Given the description of an element on the screen output the (x, y) to click on. 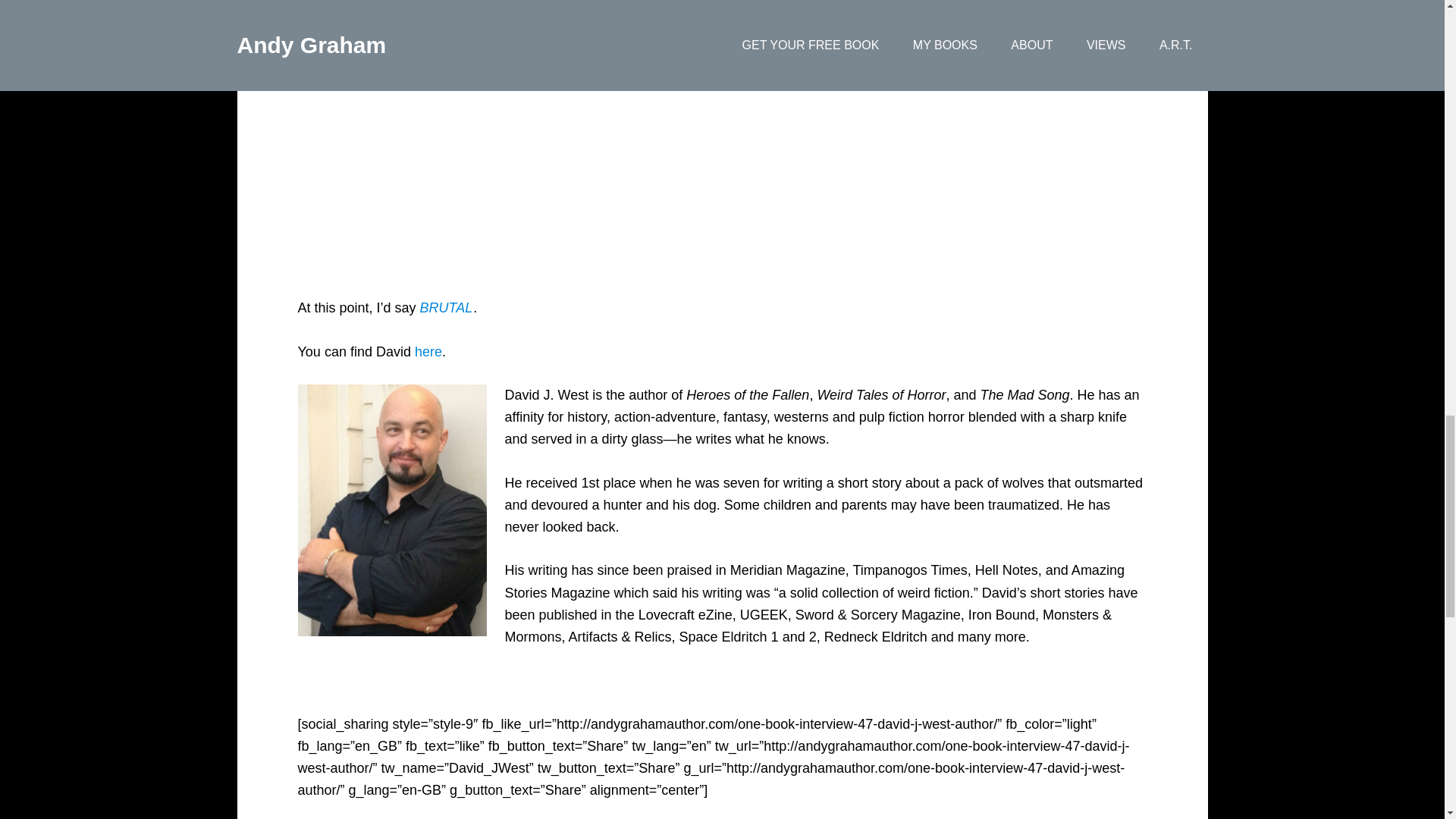
here (428, 351)
BRUTAL (446, 307)
